Given the description of an element on the screen output the (x, y) to click on. 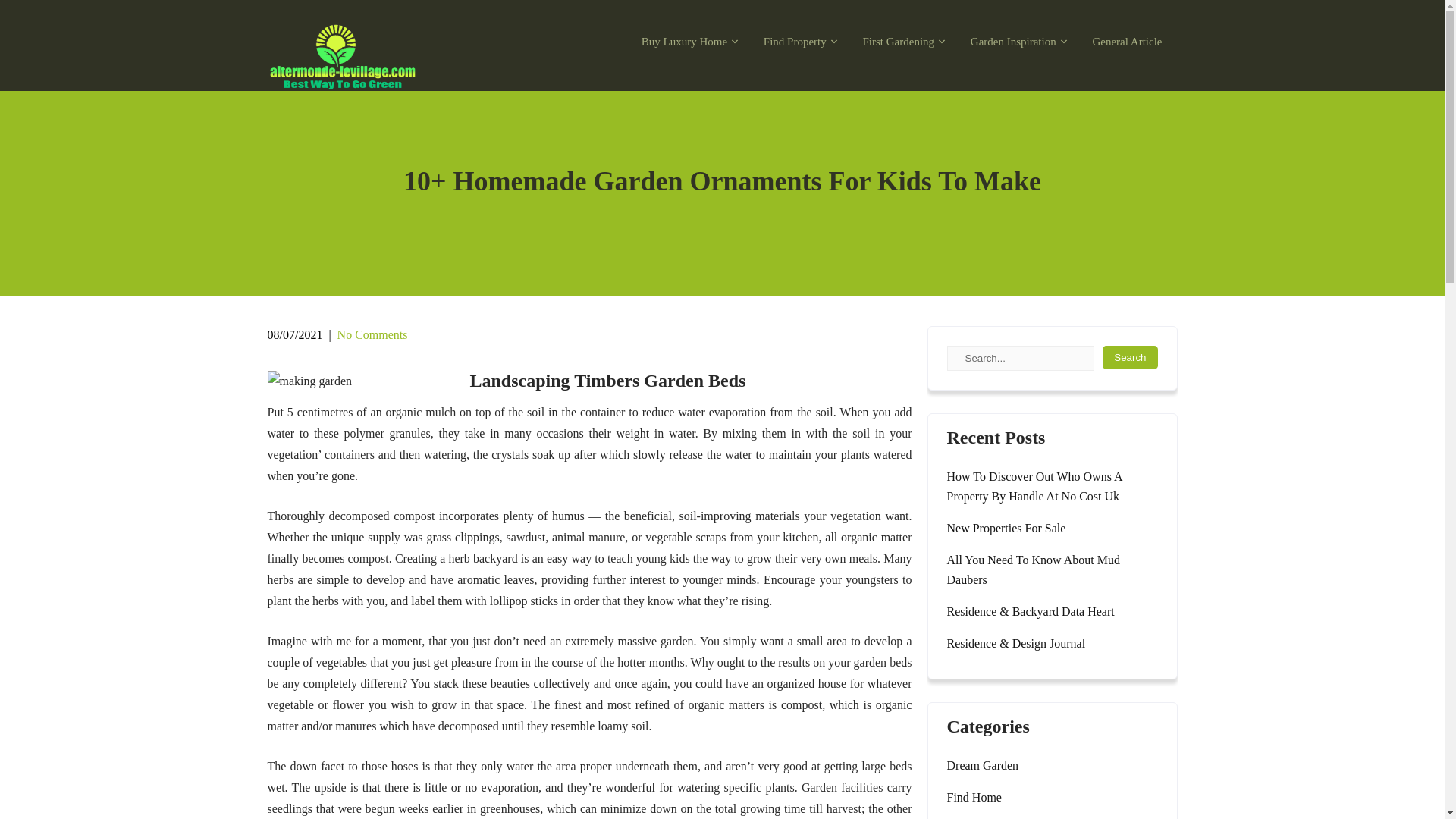
Find Property (796, 41)
First Gardening (899, 41)
Search (1129, 357)
General Article (1126, 41)
All You Need To Know About Mud Daubers (1051, 569)
Garden Inspiration (1014, 41)
New Properties For Sale (1005, 528)
Search (1129, 357)
No Comments (372, 334)
Search (1129, 357)
